Given the description of an element on the screen output the (x, y) to click on. 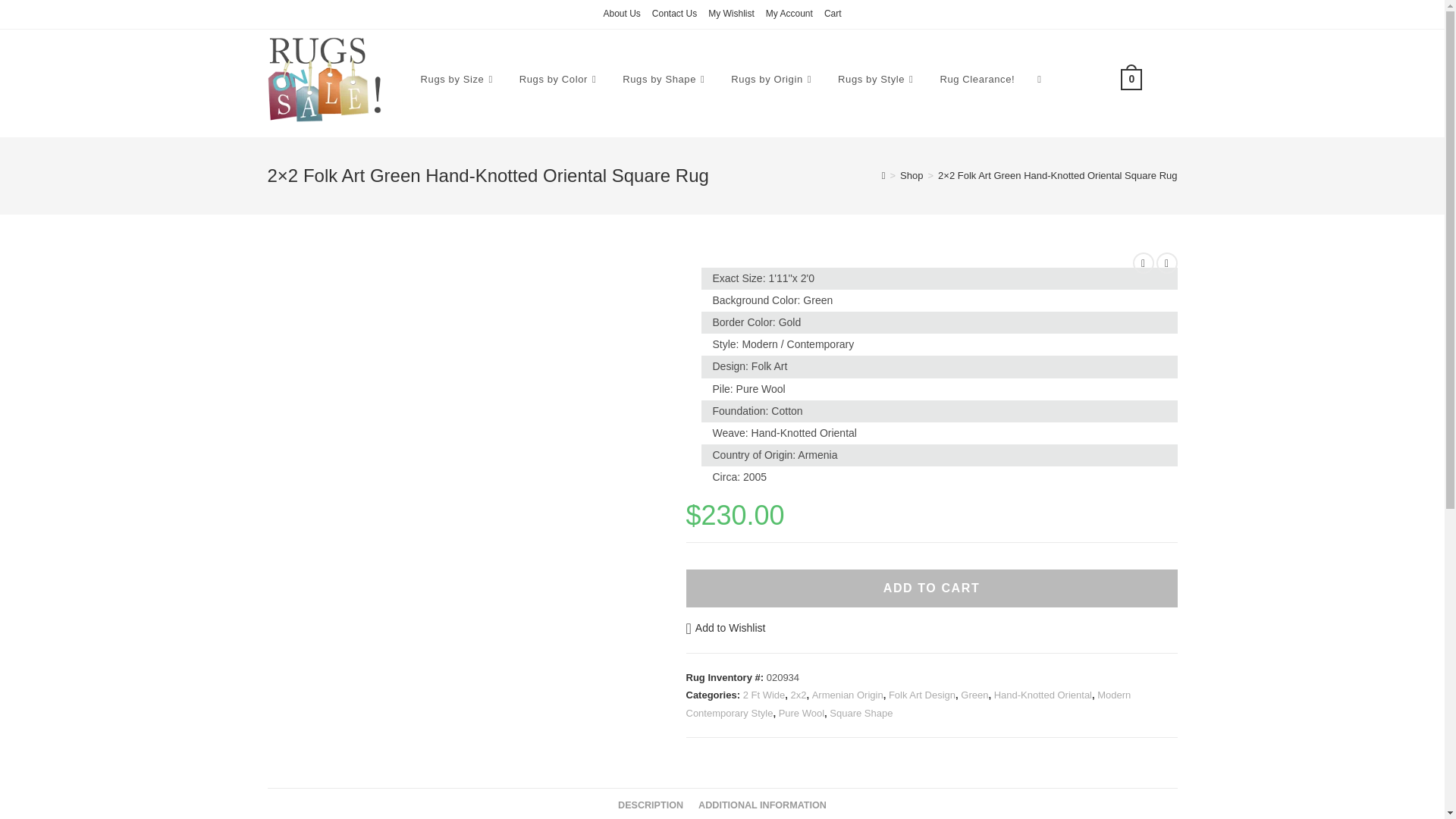
About Us (621, 13)
Rugs by Size (458, 79)
My Account (788, 13)
Contact Us (674, 13)
Rugs by Size (458, 79)
My Wishlist (730, 13)
Cart (832, 13)
Contact Us (674, 13)
My Wishlist (730, 13)
About Us (621, 13)
Cart (832, 13)
My Account (788, 13)
